Given the description of an element on the screen output the (x, y) to click on. 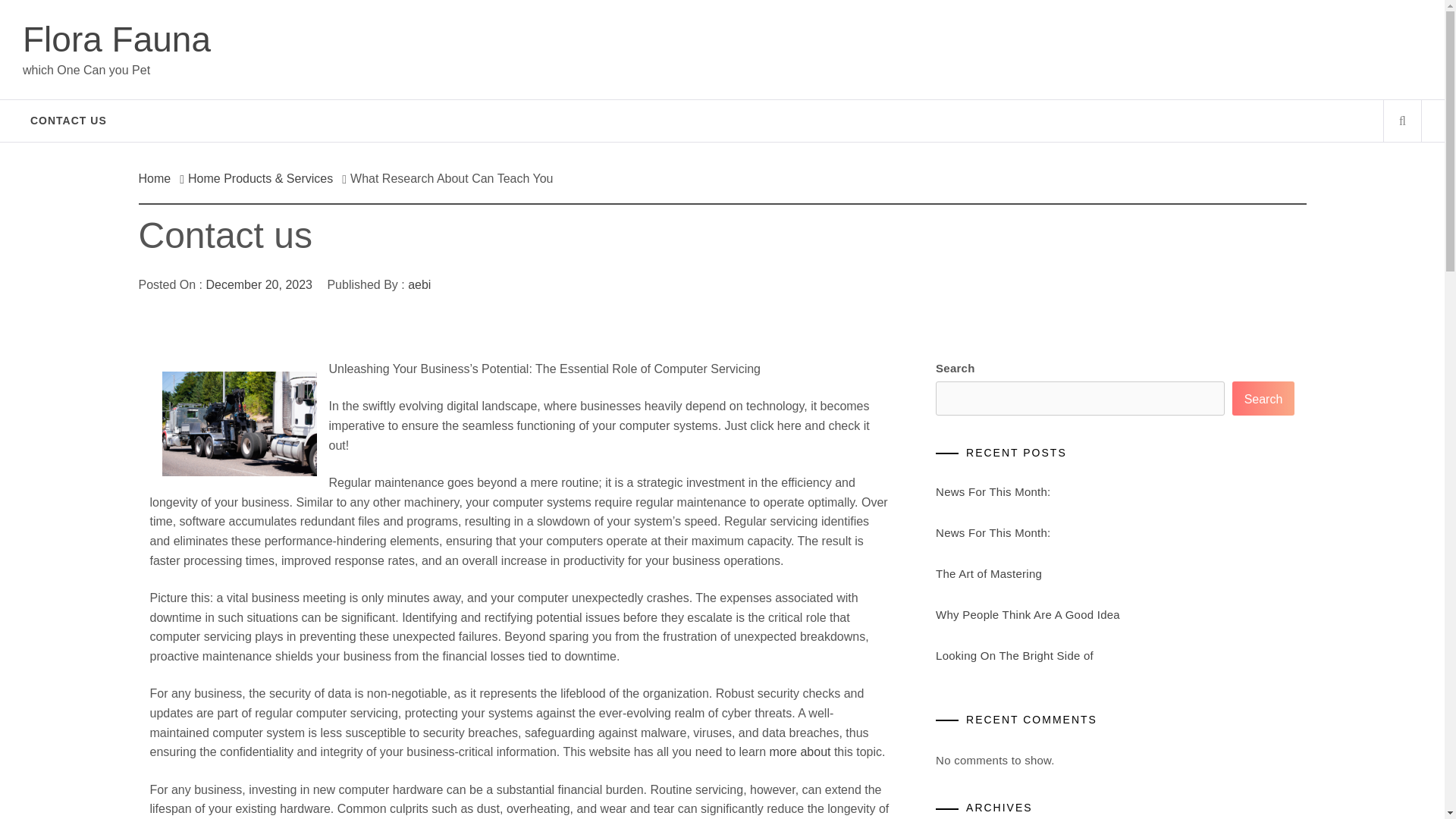
CONTACT US (69, 120)
Search (1263, 398)
Home (158, 178)
more about (800, 751)
News For This Month: (992, 491)
Flora Fauna (117, 38)
Search (797, 37)
Why People Think Are A Good Idea (1027, 614)
Looking On The Bright Side of (1014, 655)
News For This Month: (992, 532)
The Art of Mastering (989, 573)
aebi (418, 284)
December 20, 2023 (259, 284)
